Given the description of an element on the screen output the (x, y) to click on. 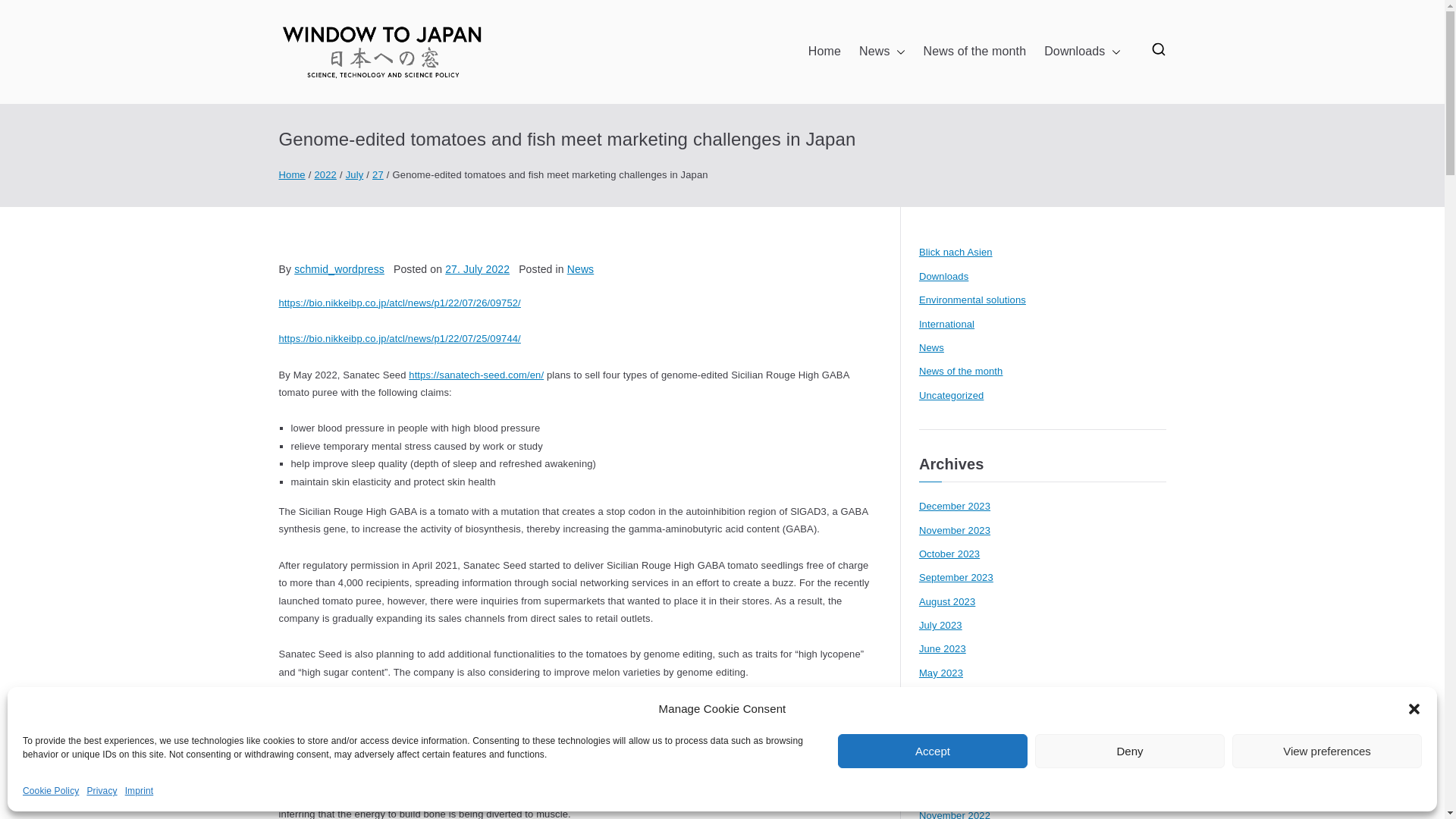
Search (23, 11)
Accept (932, 750)
News of the month (974, 51)
Cookie Policy (50, 791)
Privacy (100, 791)
July (355, 174)
Deny (1129, 750)
Imprint (139, 791)
27 (378, 174)
2022 (325, 174)
Downloads (1081, 51)
View preferences (1326, 750)
window-to-japan.eu (644, 71)
News (882, 51)
Home (824, 51)
